Given the description of an element on the screen output the (x, y) to click on. 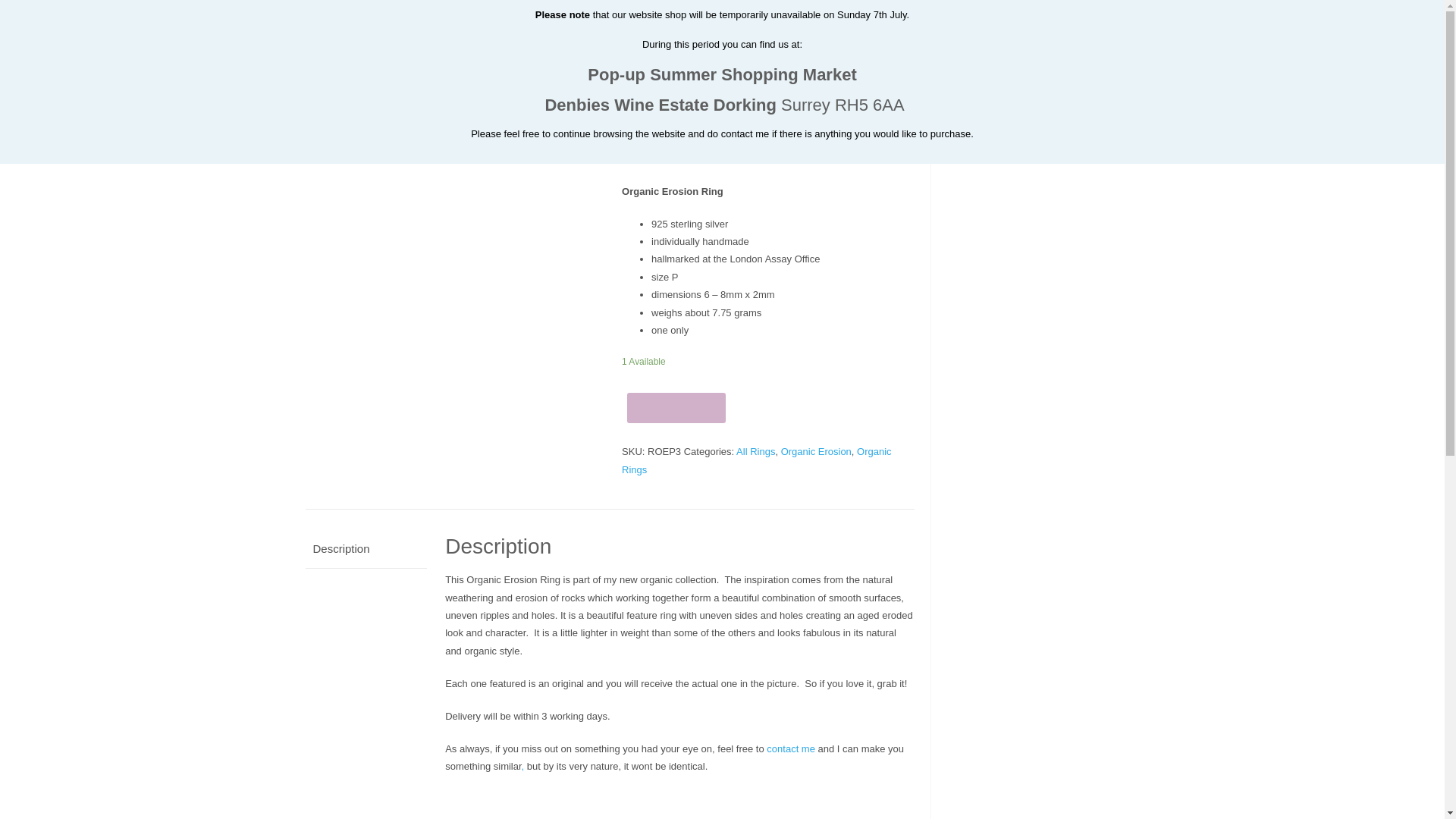
Organic Rings (756, 460)
Login (1029, 9)
ABOUT (1075, 24)
View your shopping cart (1108, 2)
GALLERY (344, 24)
Choose me (676, 408)
EARRINGS (681, 24)
BRACELETS (593, 24)
Organic Erosion (815, 451)
LATEST (418, 24)
COLLECTIONS (919, 24)
ALL RINGS (406, 71)
Search for: (1043, 88)
EVENTS (1005, 24)
